Given the description of an element on the screen output the (x, y) to click on. 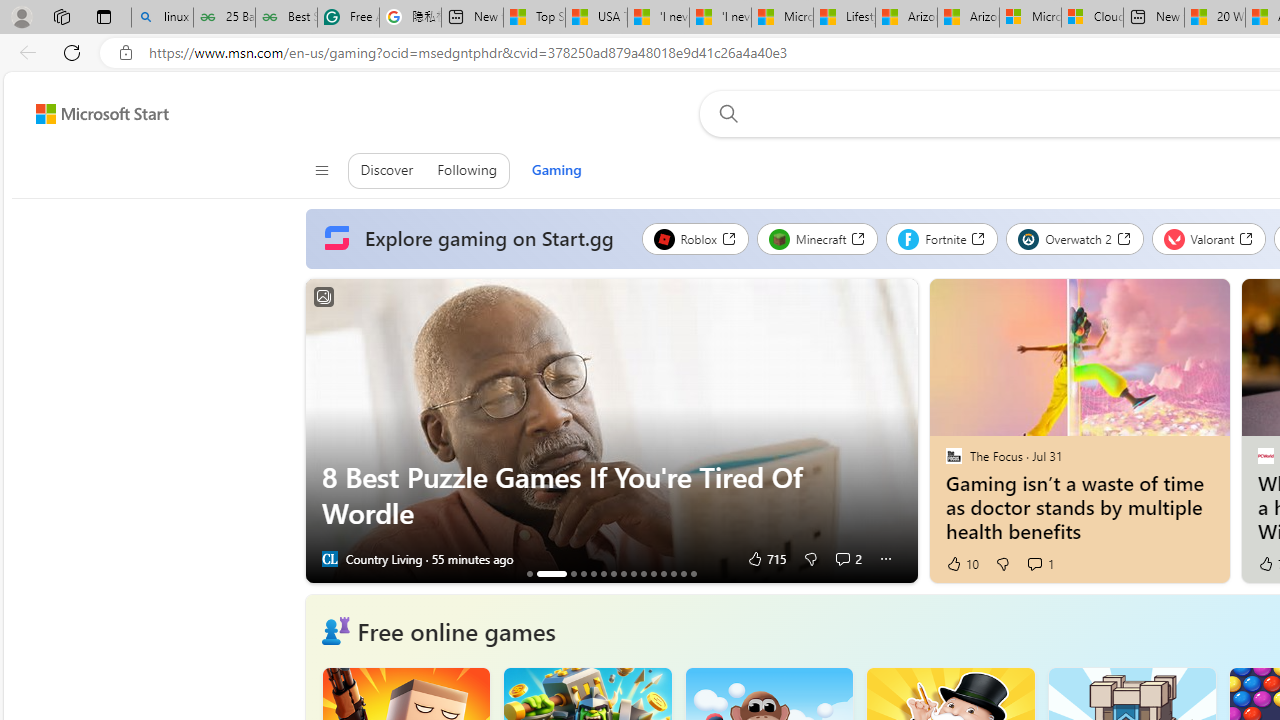
AutomationID: tab_nativead-infopane-3 (573, 573)
10 Like (961, 564)
This is the gaming PC you should buy under $1,000 (529, 573)
Minecraft (817, 238)
View comments 1 Comment (1039, 564)
Top Stories - MSN (534, 17)
8 Best Puzzle Games If You're Tired Of Wordle (610, 431)
The Focus (953, 455)
Fortnite (942, 238)
Hide this story (1169, 302)
